Given the description of an element on the screen output the (x, y) to click on. 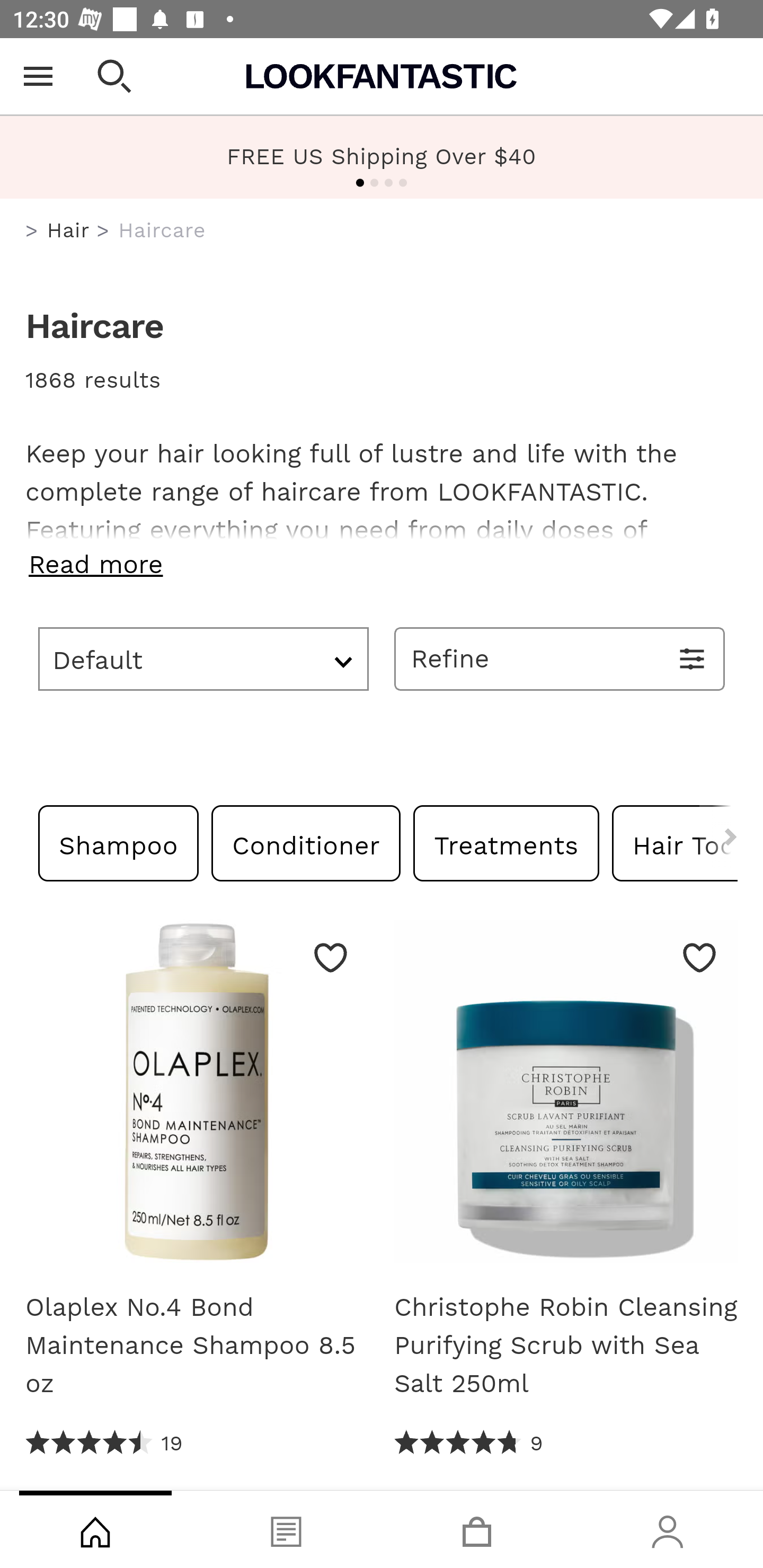
Open Menu (38, 75)
Open search (114, 75)
Lookfantastic USA (381, 75)
FREE US Shipping Over $40 (381, 157)
FREE US Shipping Over $40 (381, 155)
us.lookfantastic (32, 230)
Hair (67, 230)
Read more (381, 564)
Default (203, 658)
Refine (559, 658)
Shop Shampoo (118, 842)
Shop Conditioner (306, 842)
Shop Treatments (505, 842)
Olaplex No.4 Bond Maintenance Shampoo 8.5 oz (196, 1097)
Save to Wishlist (330, 957)
Save to Wishlist (698, 957)
Olaplex No.4 Bond Maintenance Shampoo 8.5 oz (196, 1344)
4.53 Stars 19 Reviews (104, 1442)
4.78 Stars 9 Reviews (468, 1442)
Shop, tab, 1 of 4 (95, 1529)
Blog, tab, 2 of 4 (285, 1529)
Basket, tab, 3 of 4 (476, 1529)
Account, tab, 4 of 4 (667, 1529)
